Given the description of an element on the screen output the (x, y) to click on. 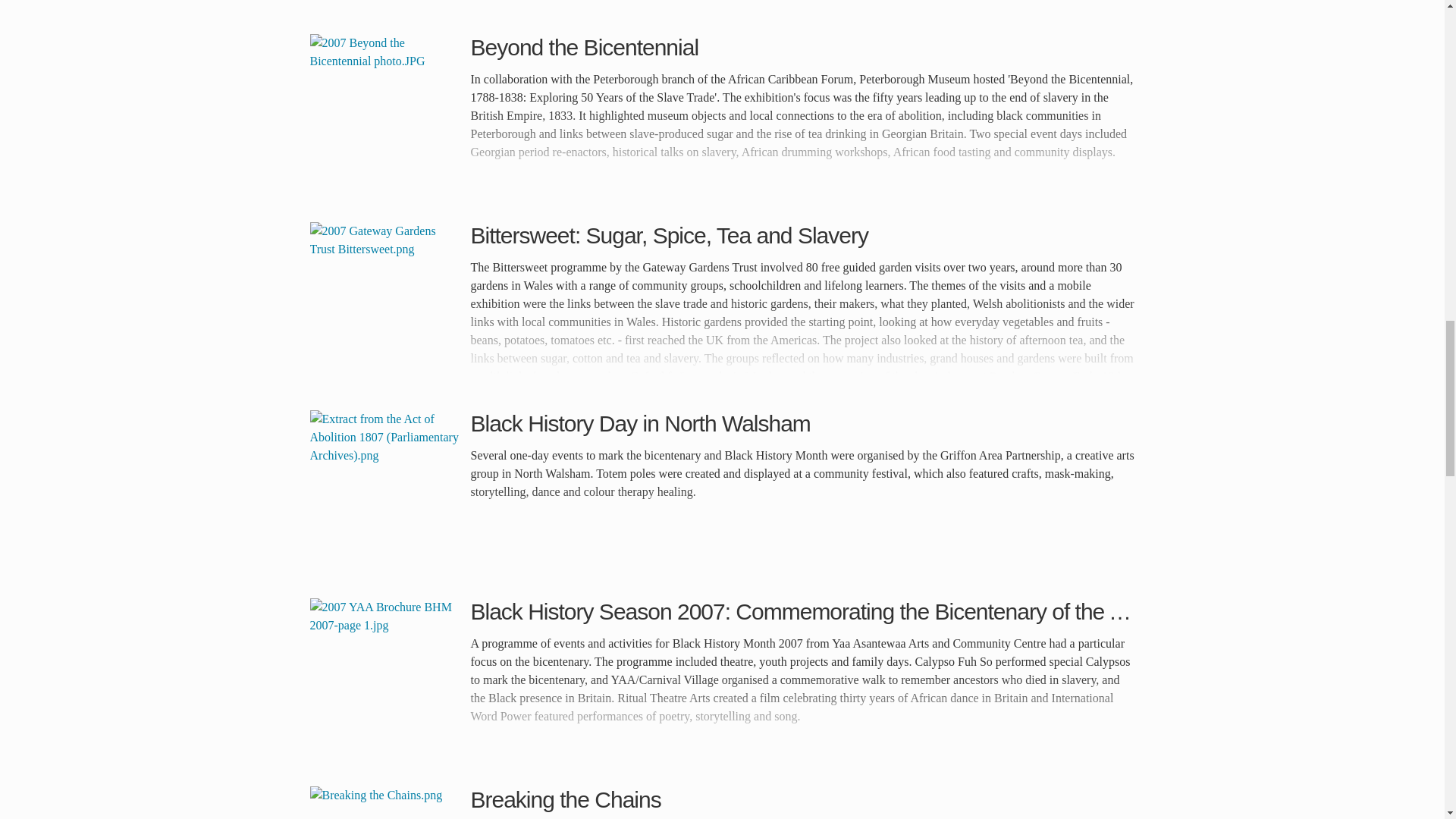
2007 Beyond the Bicentennial photo.JPG (384, 109)
Breaking the Chains.png (384, 802)
2007 Gateway Gardens Trust Bittersweet.png (384, 297)
2007 YAA Brochure BHM 2007-page 1.jpg (384, 674)
